Given the description of an element on the screen output the (x, y) to click on. 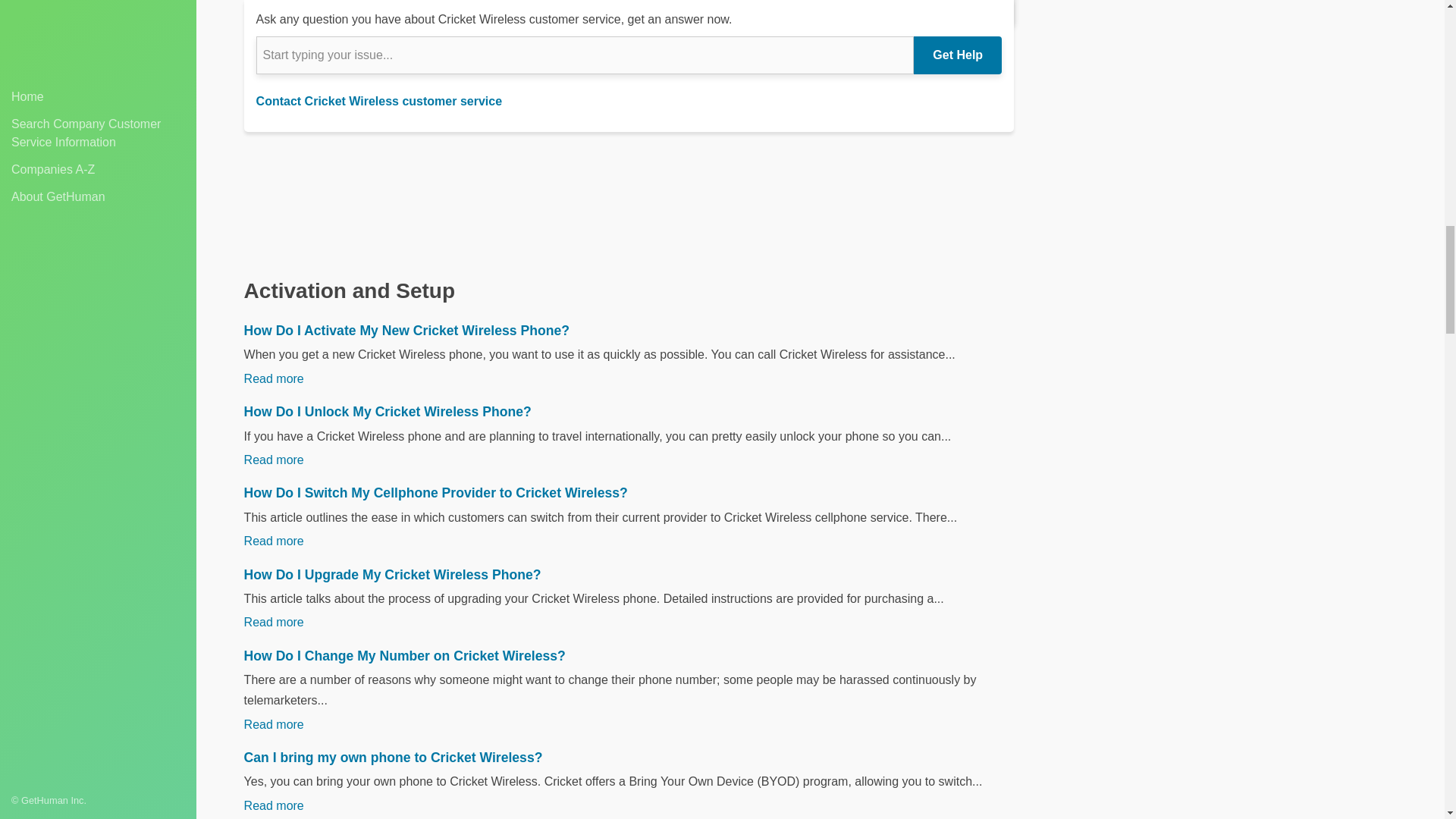
How Do I Activate My New Cricket Wireless Phone? (629, 330)
Read more (274, 540)
Can I bring my own phone to Cricket Wireless? (629, 757)
How Do I Switch My Cellphone Provider to Cricket Wireless? (629, 493)
Read more (274, 621)
Get Answer (960, 12)
How Do I Change My Number on Cricket Wireless? (629, 656)
Read more (274, 459)
Read more (274, 378)
Get Answer (960, 12)
